Given the description of an element on the screen output the (x, y) to click on. 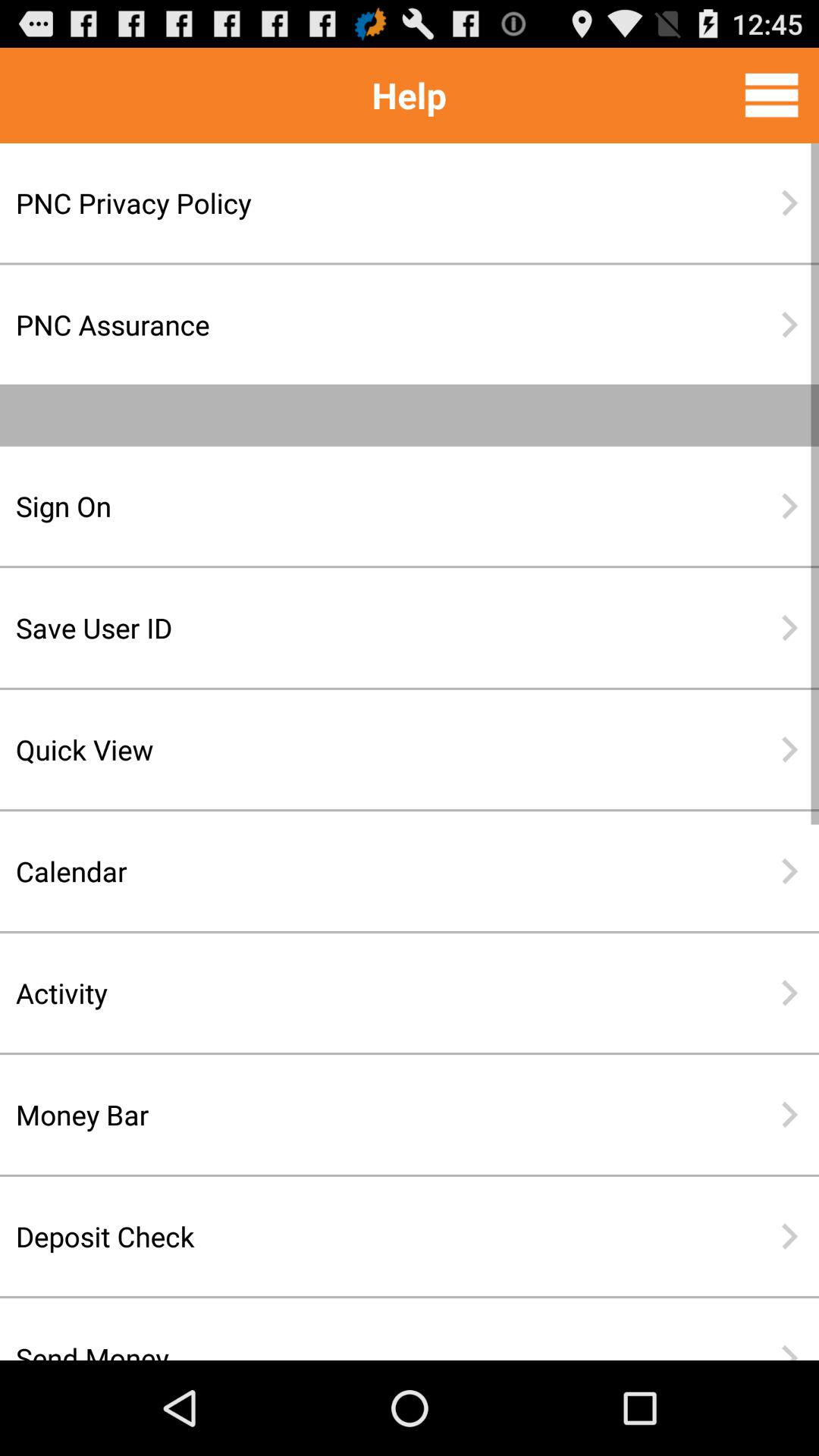
turn off the item below the save user id (359, 749)
